Given the description of an element on the screen output the (x, y) to click on. 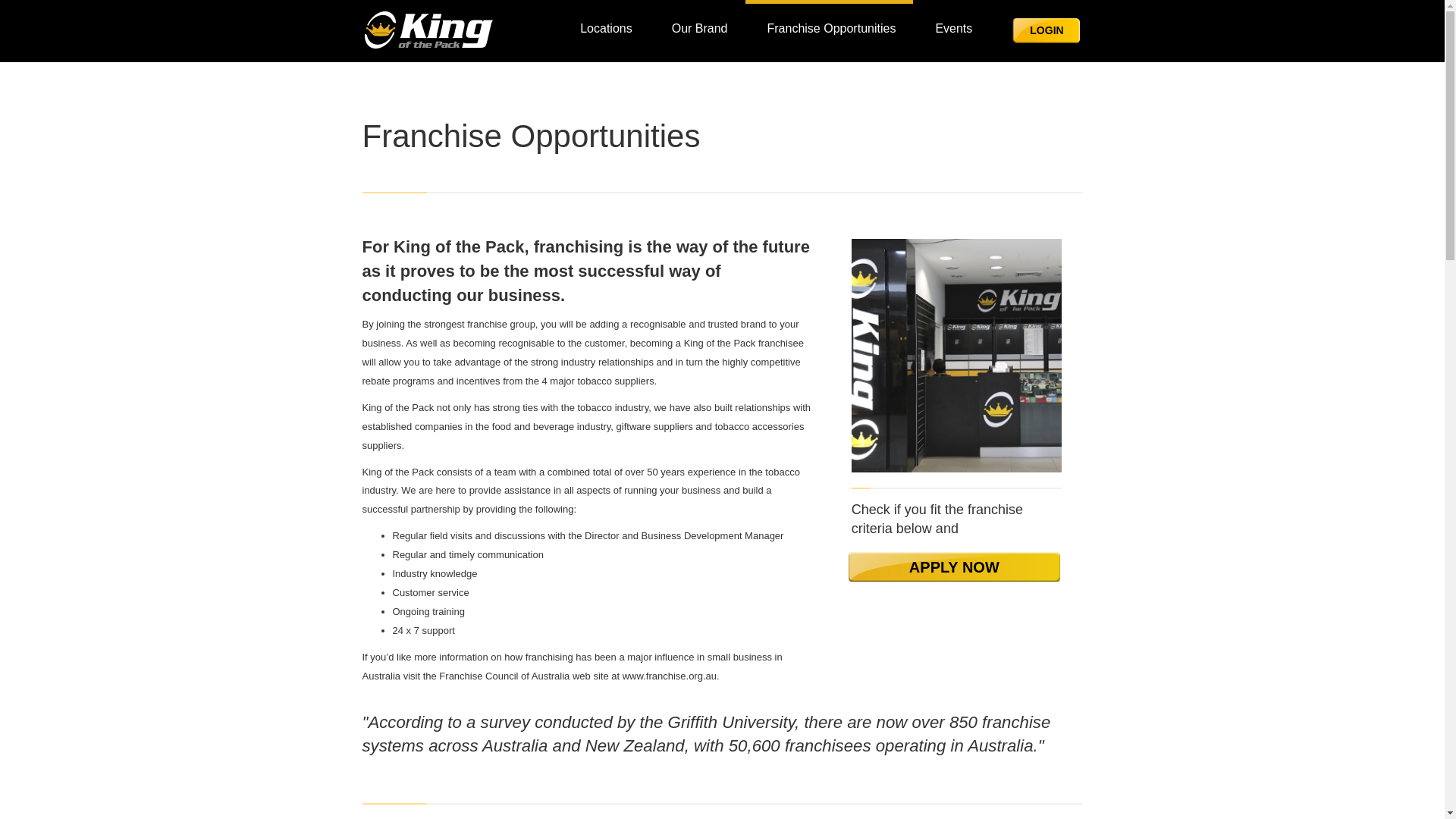
Events Element type: text (951, 18)
LOGIN Element type: text (1046, 30)
Franchise Opportunities Element type: text (829, 18)
APPLY NOW Element type: text (954, 566)
Locations Element type: text (603, 18)
Our Brand Element type: text (697, 18)
